Given the description of an element on the screen output the (x, y) to click on. 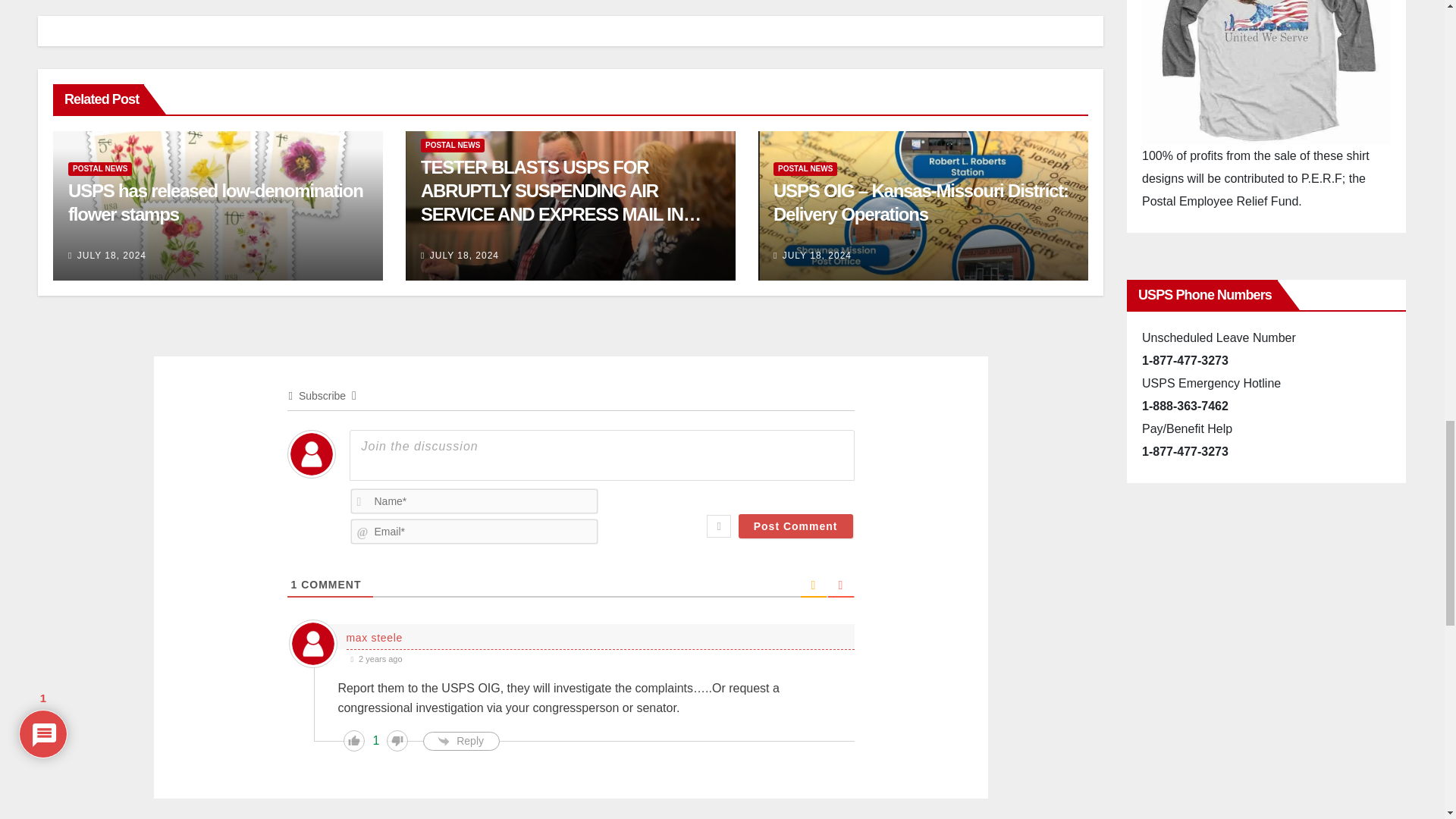
USPS has released low-denomination flower stamps (215, 202)
POSTAL NEWS (452, 145)
POSTAL NEWS (100, 169)
Post Comment (795, 526)
JULY 18, 2024 (112, 255)
